Given the description of an element on the screen output the (x, y) to click on. 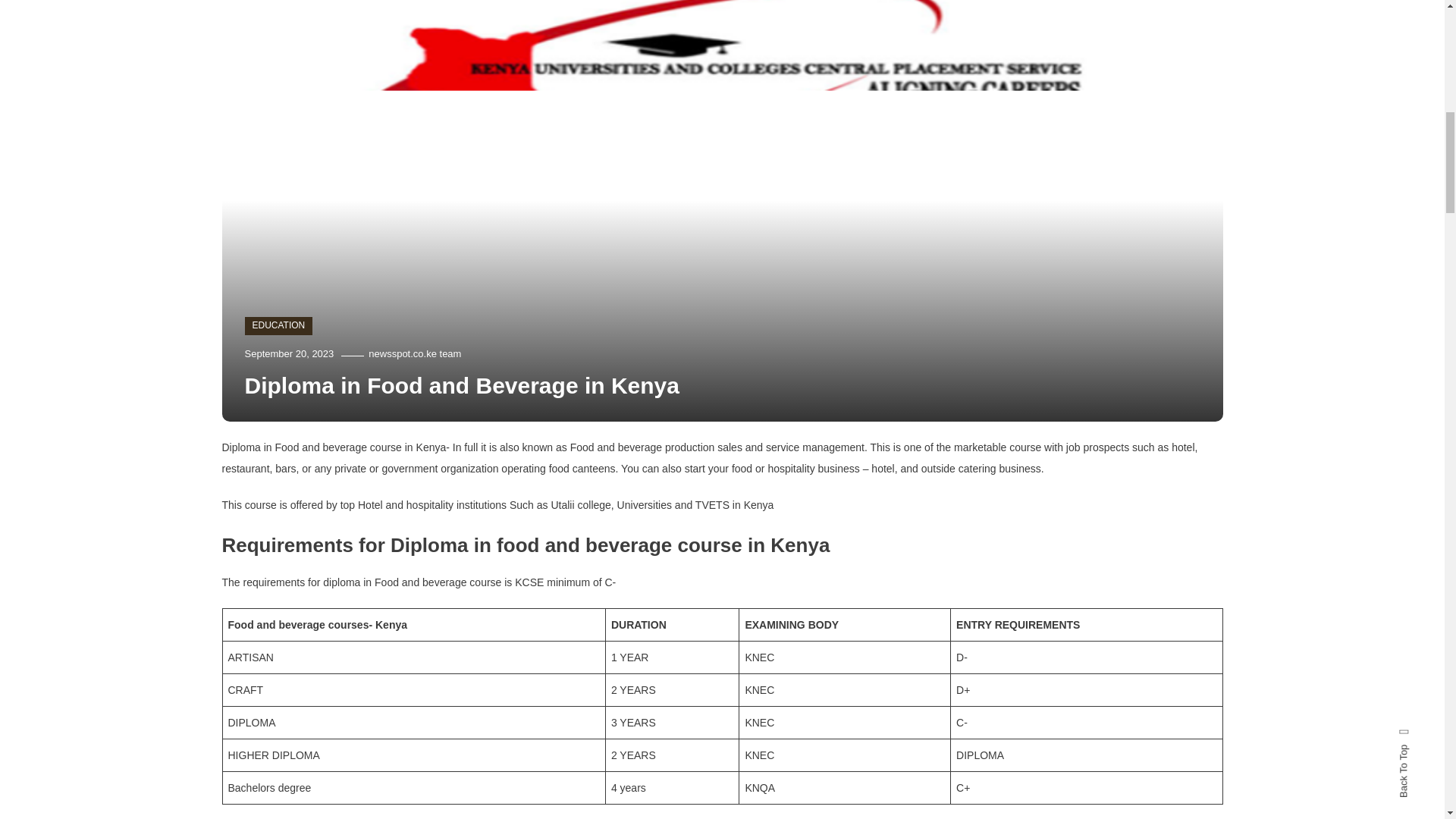
Diploma in Food and Beverage in Kenya (461, 385)
newsspot.co.ke team (414, 353)
EDUCATION (278, 325)
September 20, 2023 (288, 353)
